Given the description of an element on the screen output the (x, y) to click on. 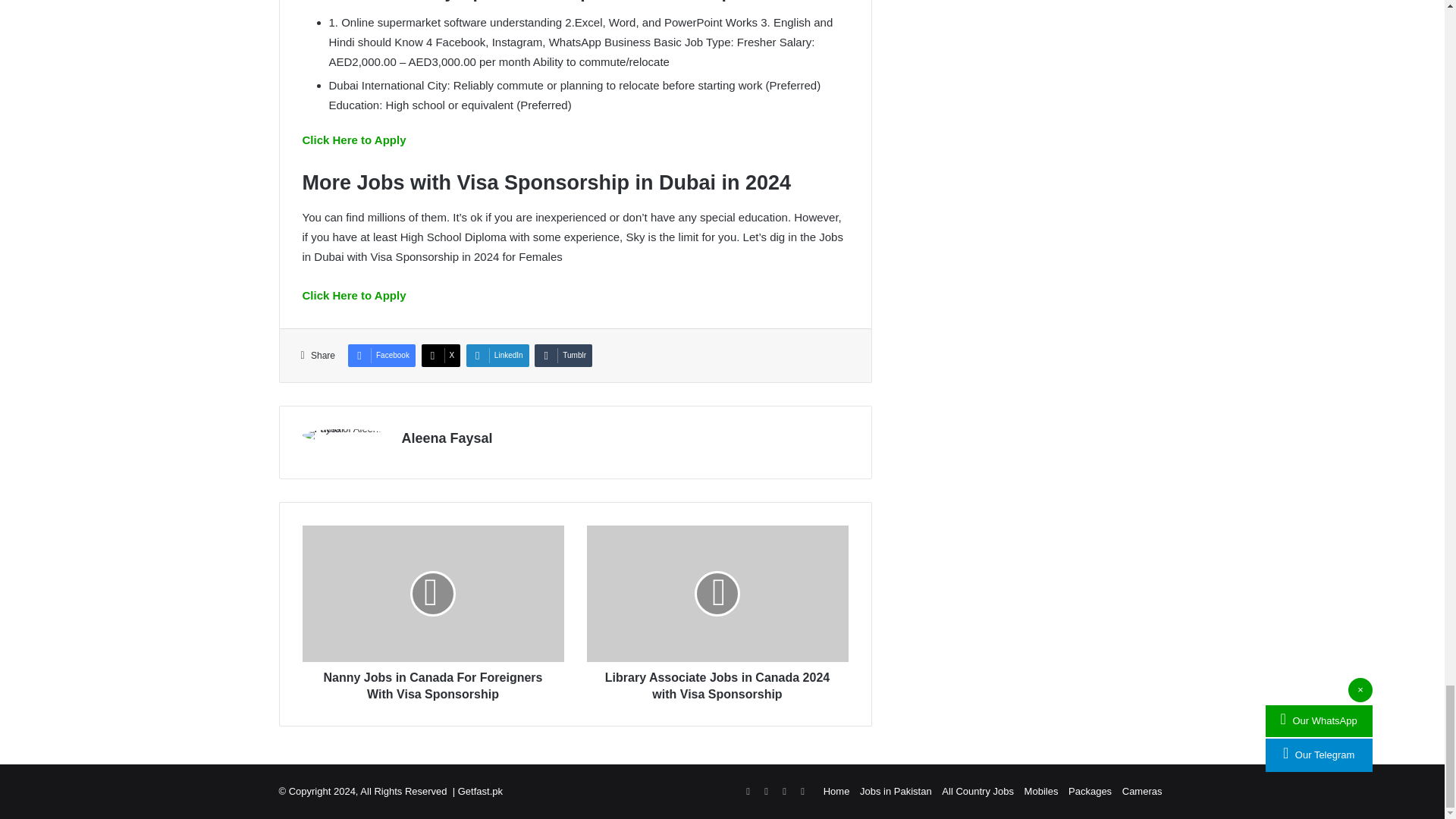
X (441, 354)
Facebook (380, 354)
LinkedIn (497, 354)
